Given the description of an element on the screen output the (x, y) to click on. 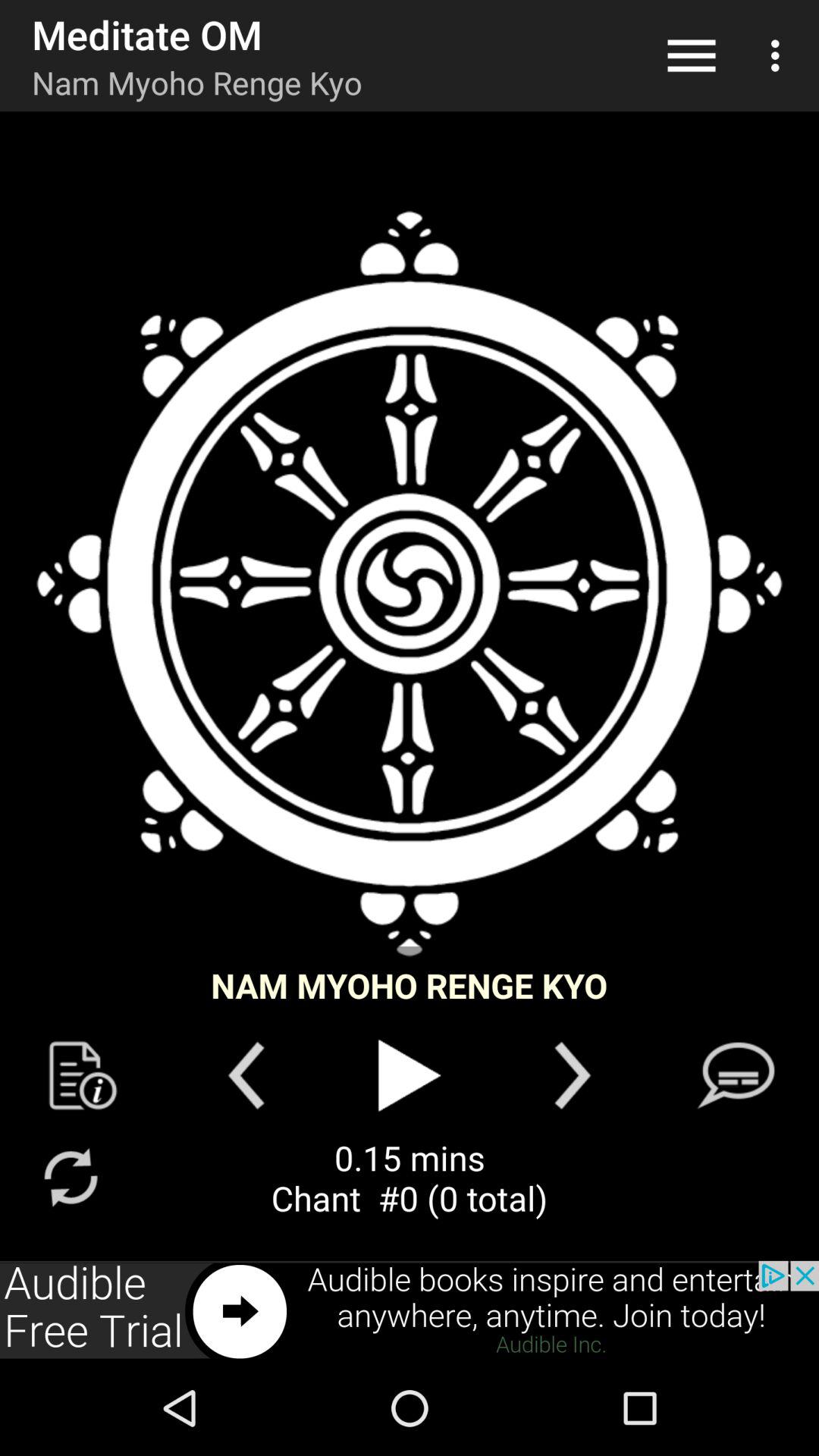
refresh button (69, 1177)
